Given the description of an element on the screen output the (x, y) to click on. 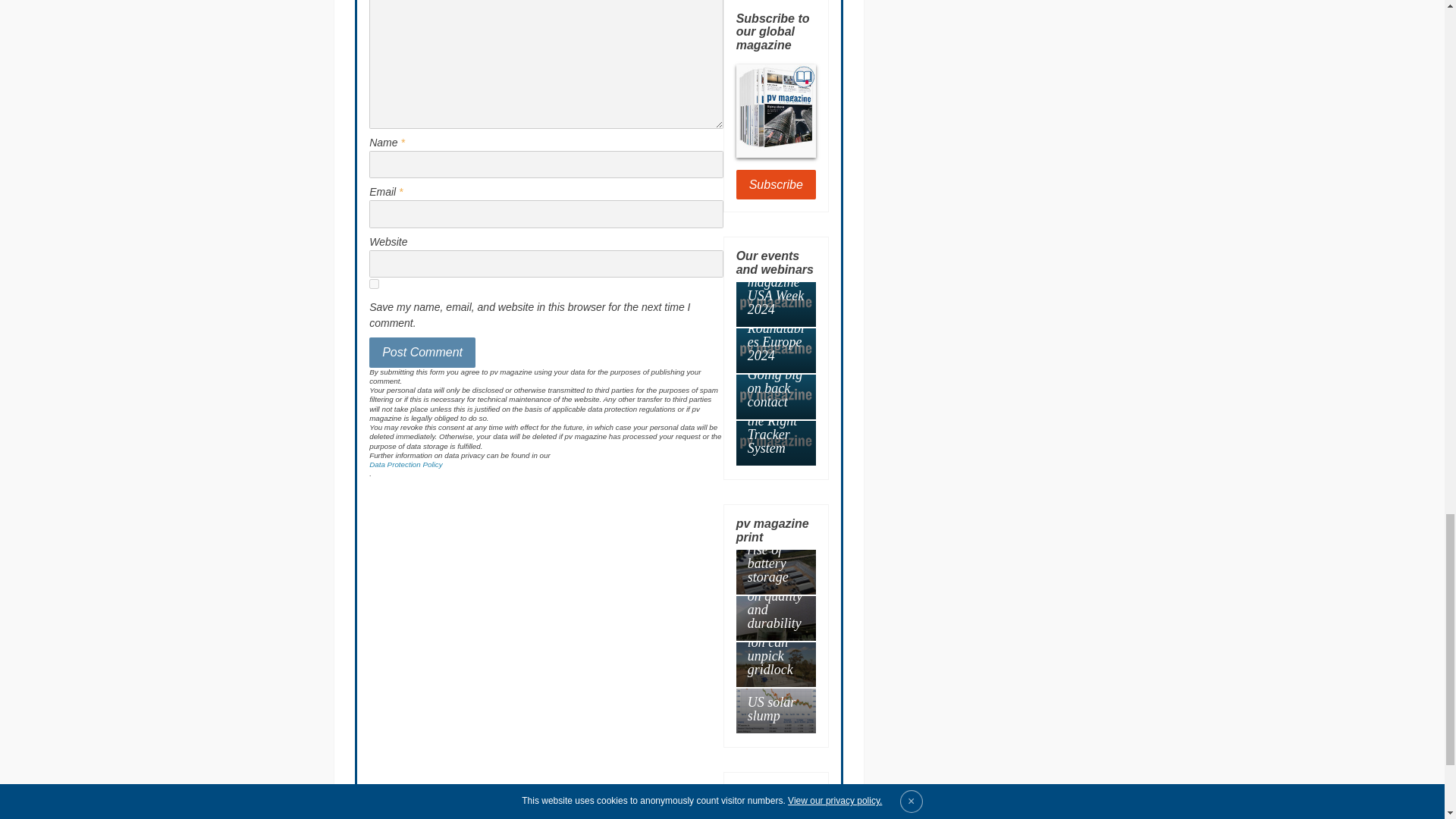
Post Comment (422, 352)
yes (373, 284)
